Given the description of an element on the screen output the (x, y) to click on. 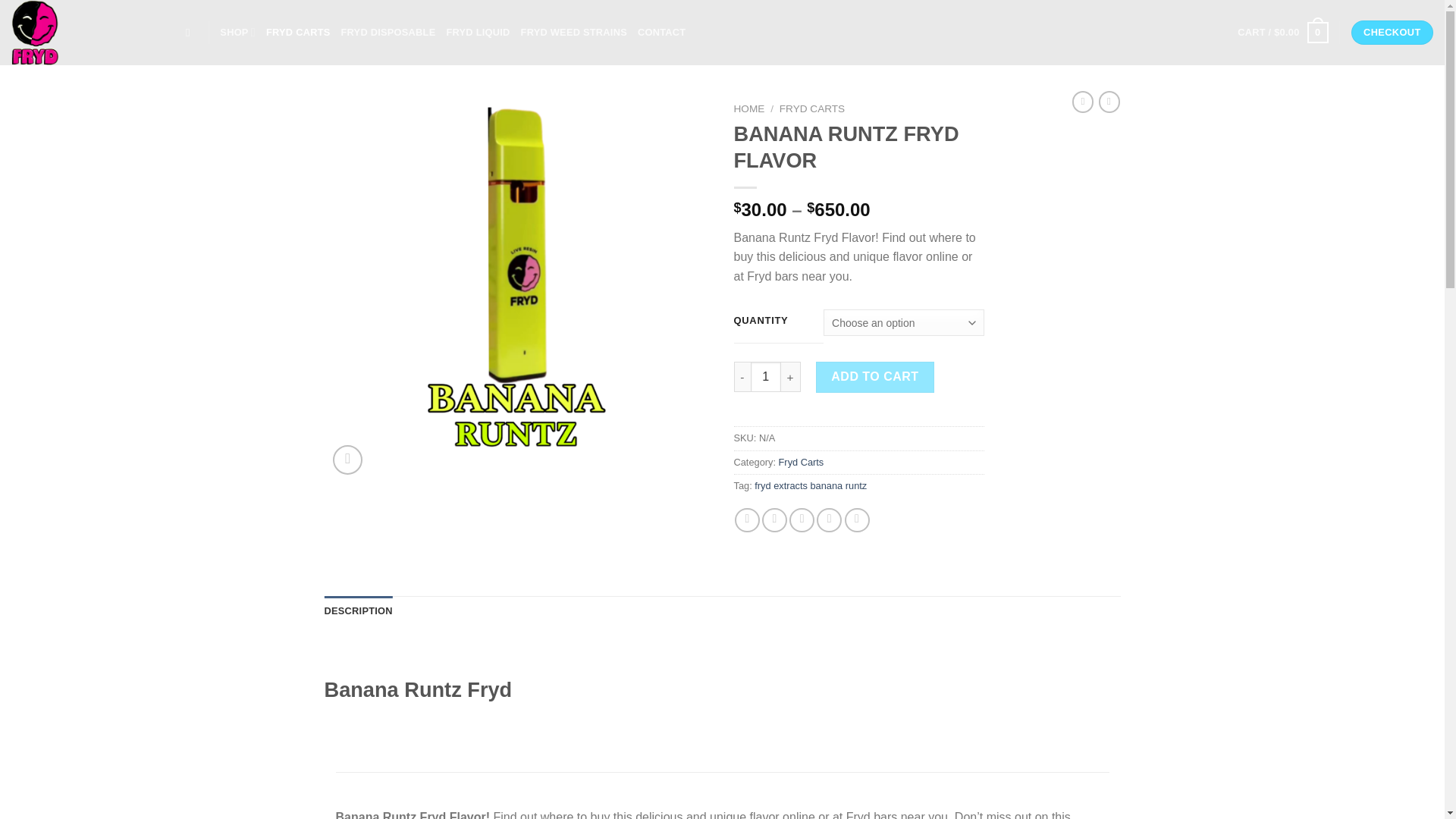
FRYD CARTS (811, 108)
FRYD LIQUID (477, 32)
ADD TO CART (874, 376)
FRYD WEED STRAINS (574, 32)
1 (765, 376)
FRYD CARTS (298, 32)
HOME (749, 108)
Cart (1282, 32)
fryd extracts banana runtz (810, 485)
fryd carts - fryd carts (87, 32)
SHOP (237, 32)
CONTACT (661, 32)
FRYD DISPOSABLE (387, 32)
Qty (765, 376)
